Given the description of an element on the screen output the (x, y) to click on. 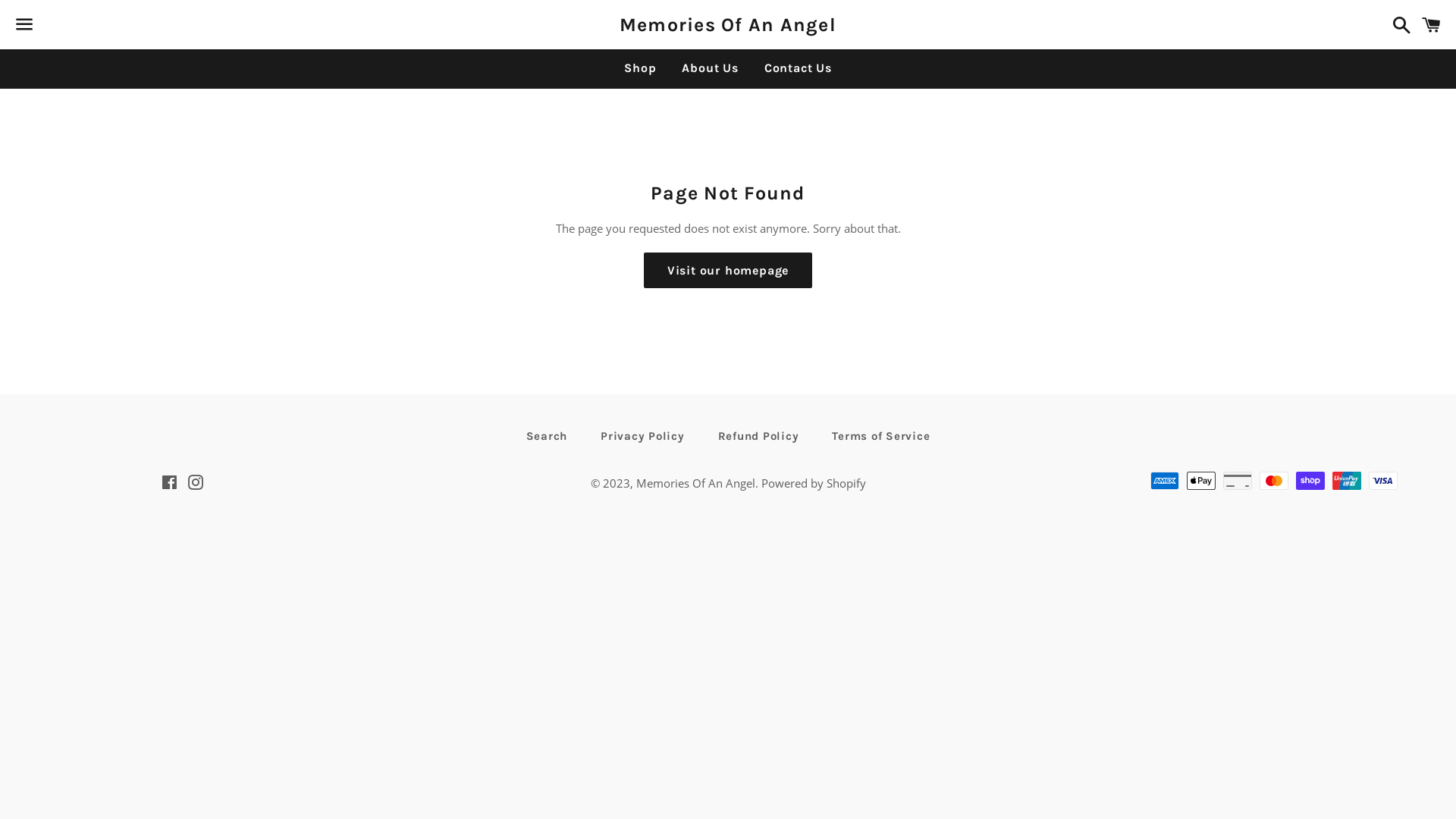
Powered by Shopify Element type: text (813, 482)
Facebook Element type: text (168, 483)
Privacy Policy Element type: text (642, 436)
Contact Us Element type: text (798, 68)
Shop Element type: text (639, 68)
Visit our homepage Element type: text (727, 270)
Menu Element type: text (24, 24)
Instagram Element type: text (195, 483)
Memories Of An Angel Element type: text (727, 24)
About Us Element type: text (709, 68)
Search Element type: text (547, 436)
Search Element type: text (1397, 24)
Memories Of An Angel Element type: text (694, 482)
Terms of Service Element type: text (880, 436)
Refund Policy Element type: text (758, 436)
Cart Element type: text (1431, 24)
